Given the description of an element on the screen output the (x, y) to click on. 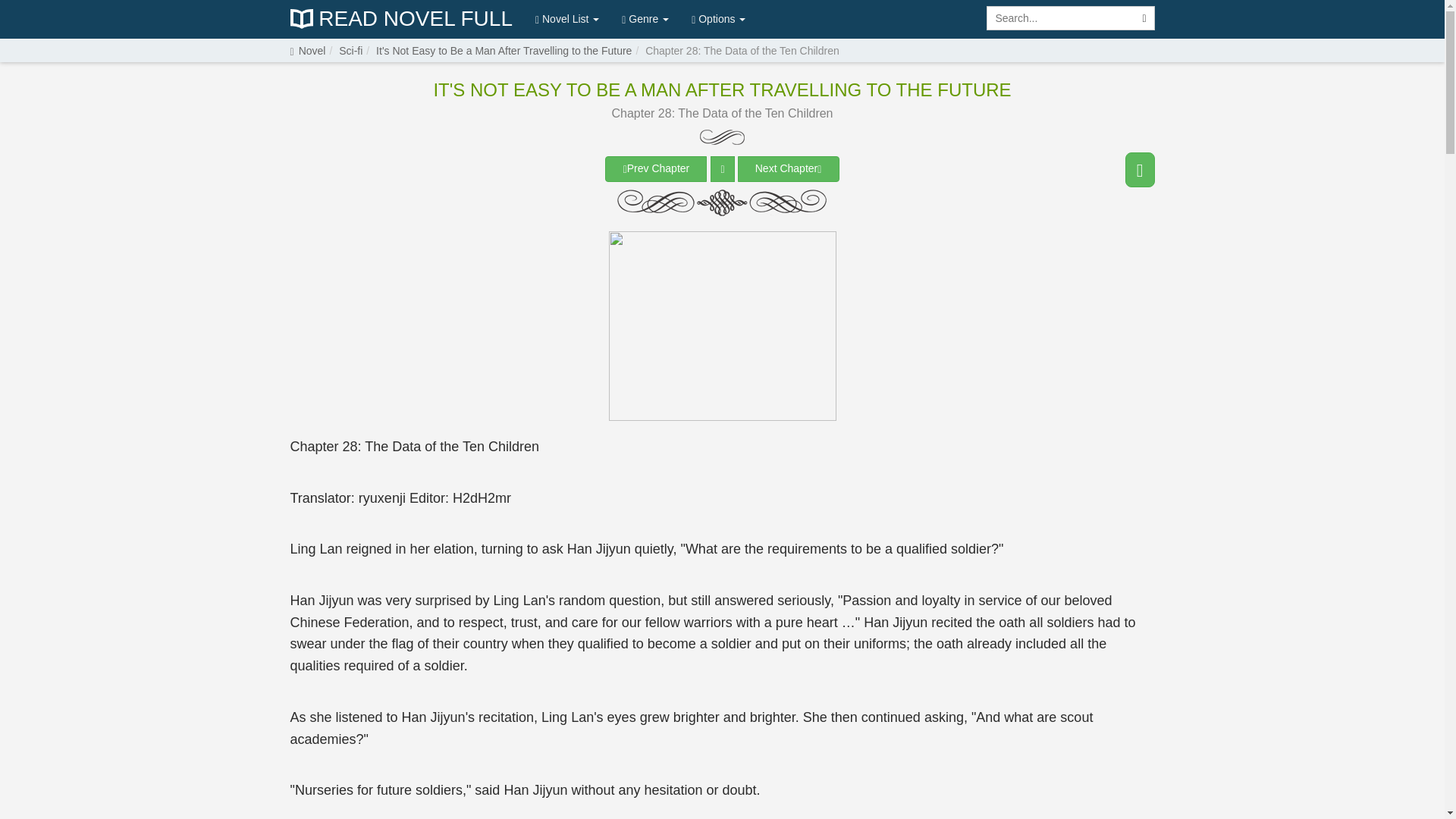
Read Novel Full (400, 19)
READ NOVEL FULL (400, 19)
Novel List (567, 18)
Genre (644, 18)
